Given the description of an element on the screen output the (x, y) to click on. 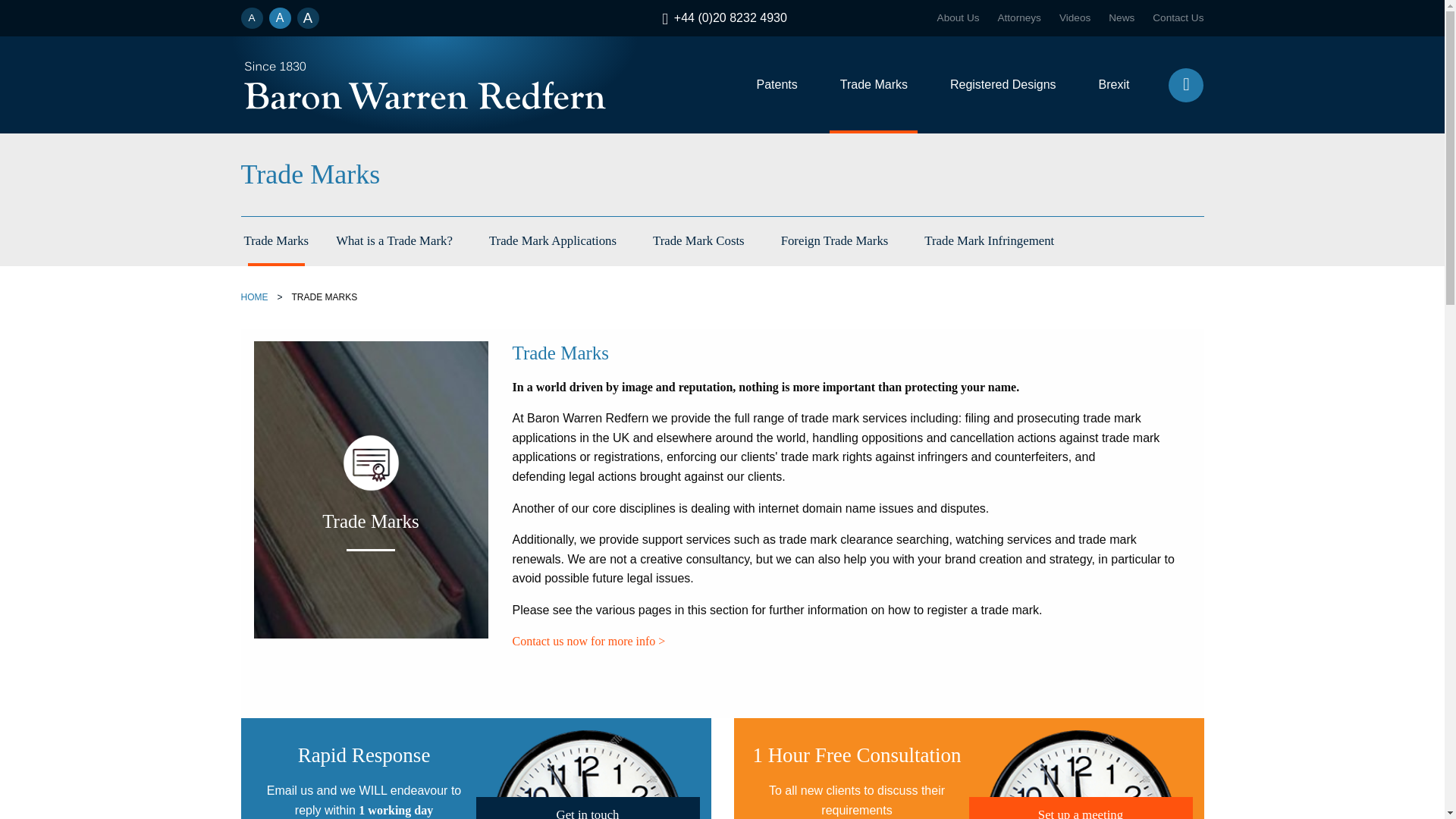
News (1121, 17)
About Us (958, 17)
Foreign Trade Marks (834, 240)
Trade Mark Applications (552, 240)
Trade Mark Costs (698, 240)
Set up a meeting (1080, 807)
Contact Us (1178, 17)
Attorneys (1019, 17)
Trade Marks (276, 240)
Videos (1074, 17)
Registered Designs (1002, 84)
A (278, 17)
Get in touch (588, 807)
A (307, 17)
What is a Trade Mark? (394, 240)
